Given the description of an element on the screen output the (x, y) to click on. 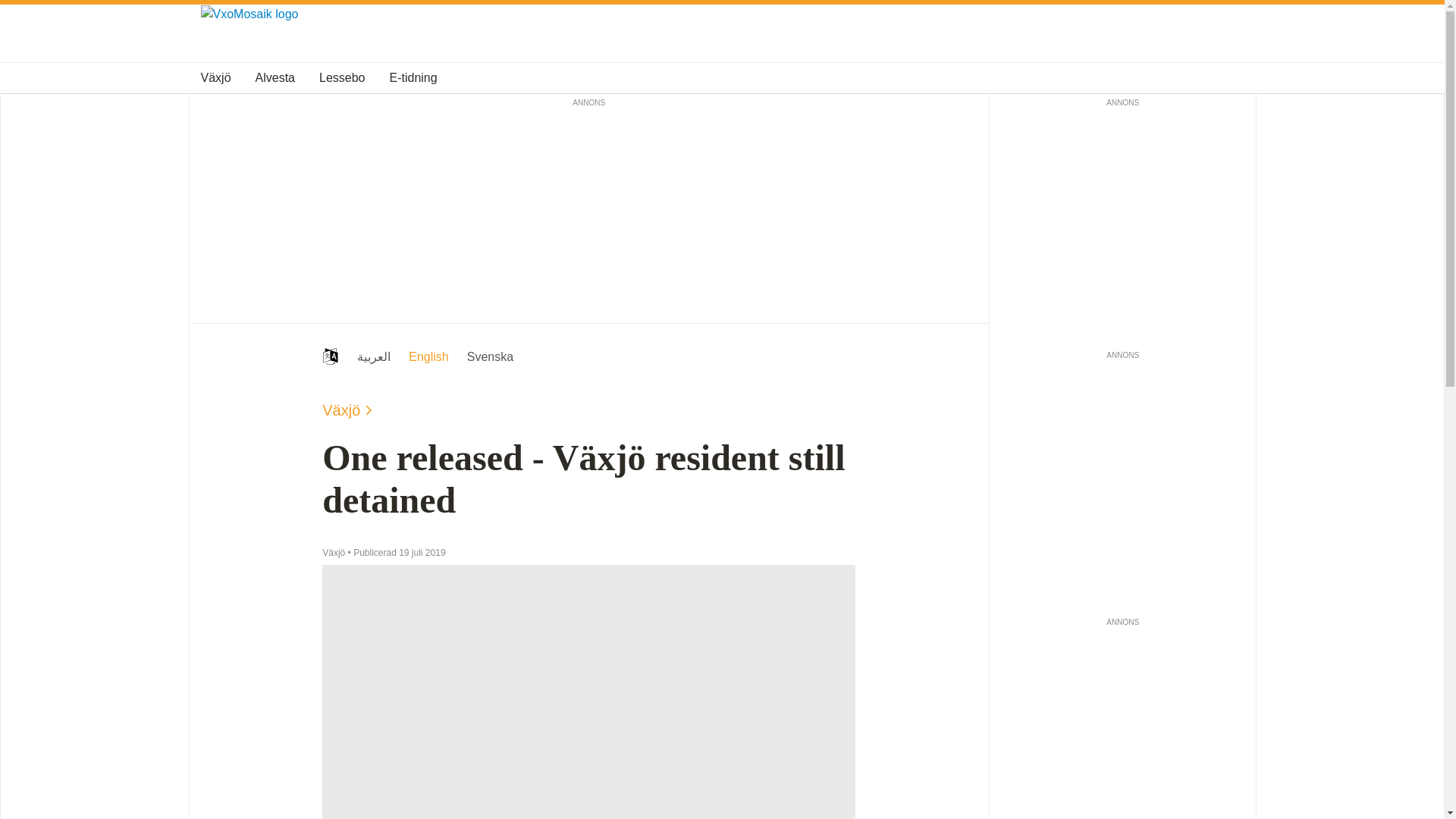
Svenska (490, 356)
Alvesta (275, 77)
Lessebo (341, 77)
E-tidning (414, 77)
